Given the description of an element on the screen output the (x, y) to click on. 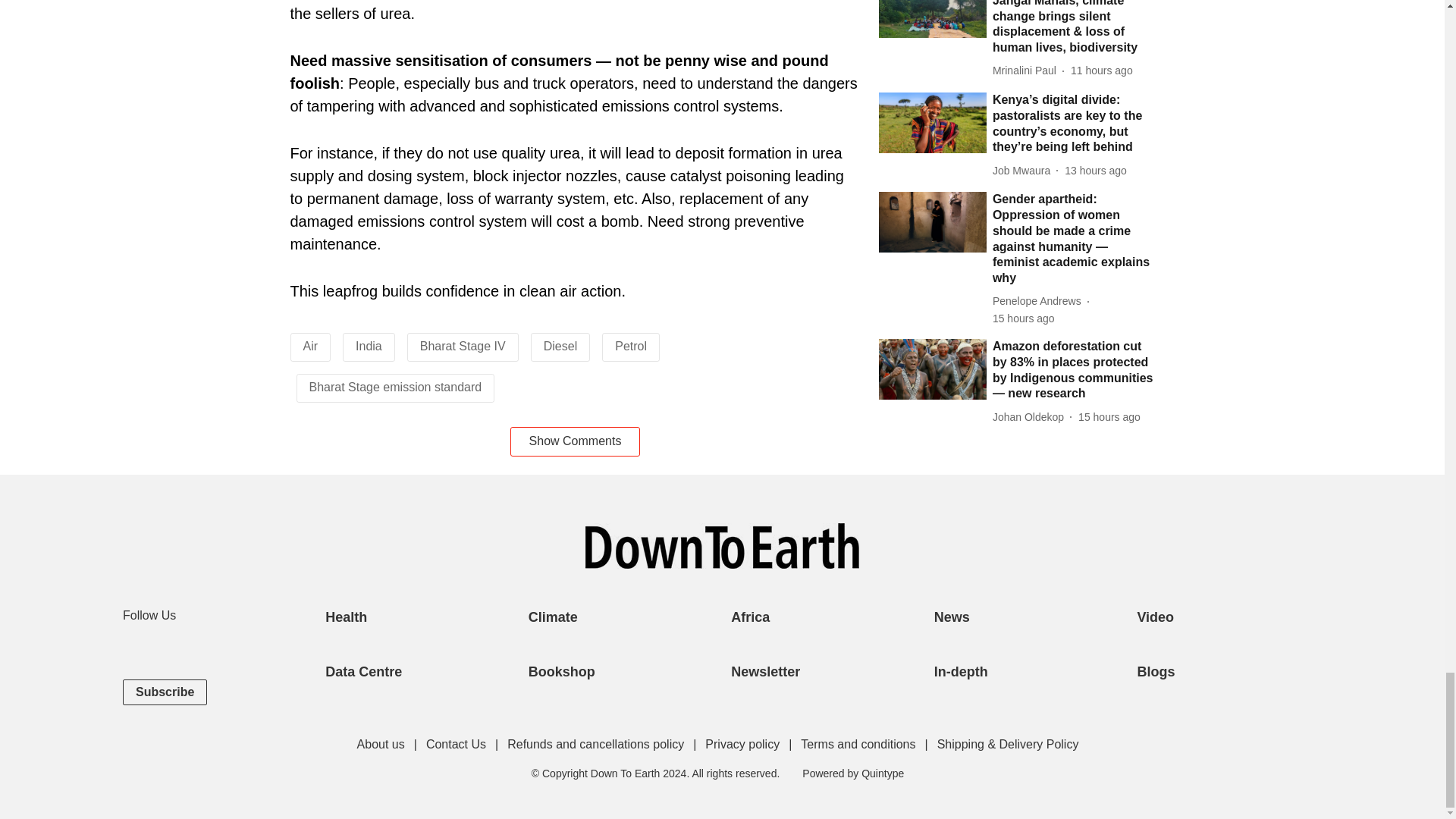
Air (310, 345)
